Given the description of an element on the screen output the (x, y) to click on. 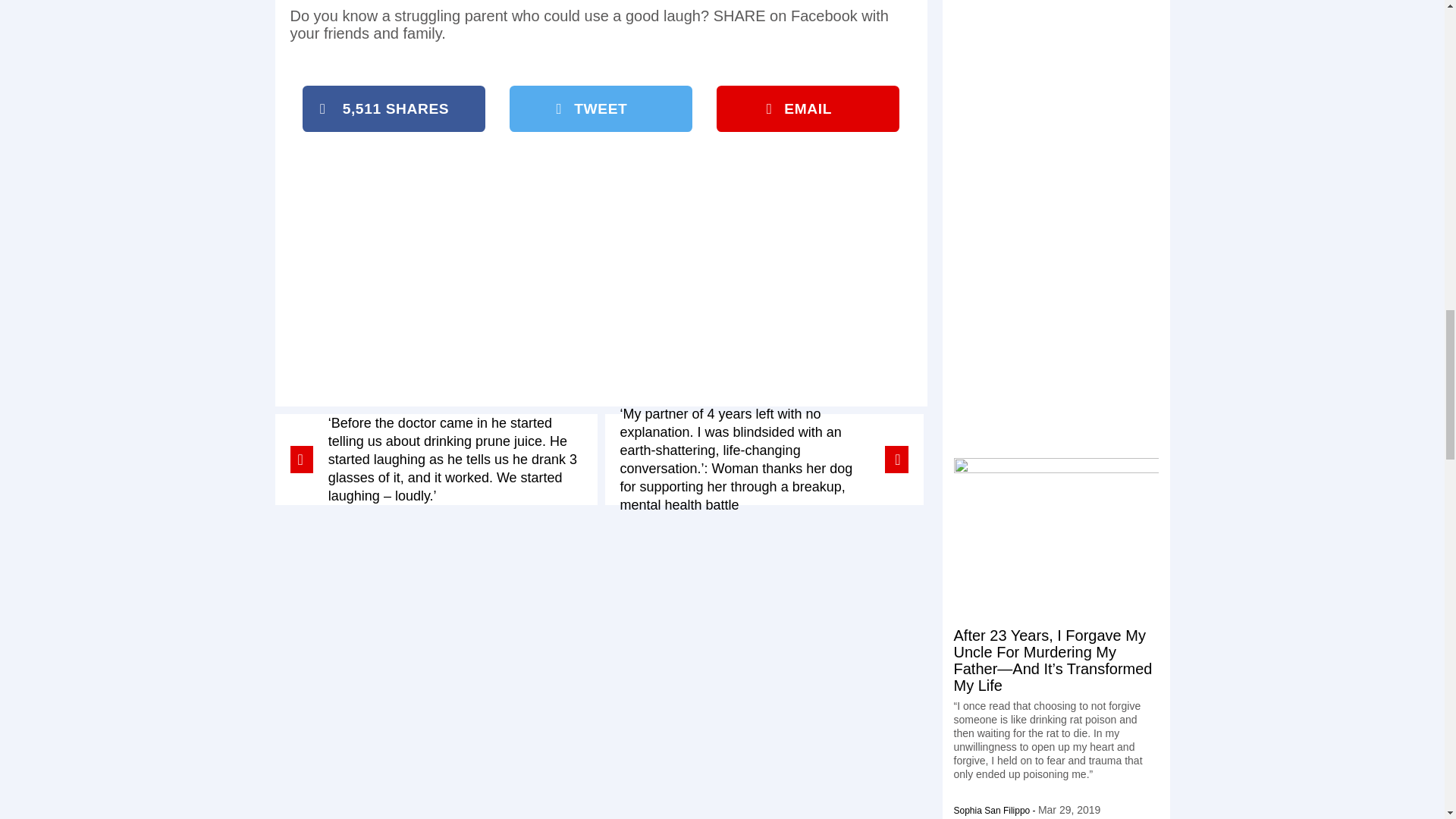
March 29, 2019 (1069, 809)
